Given the description of an element on the screen output the (x, y) to click on. 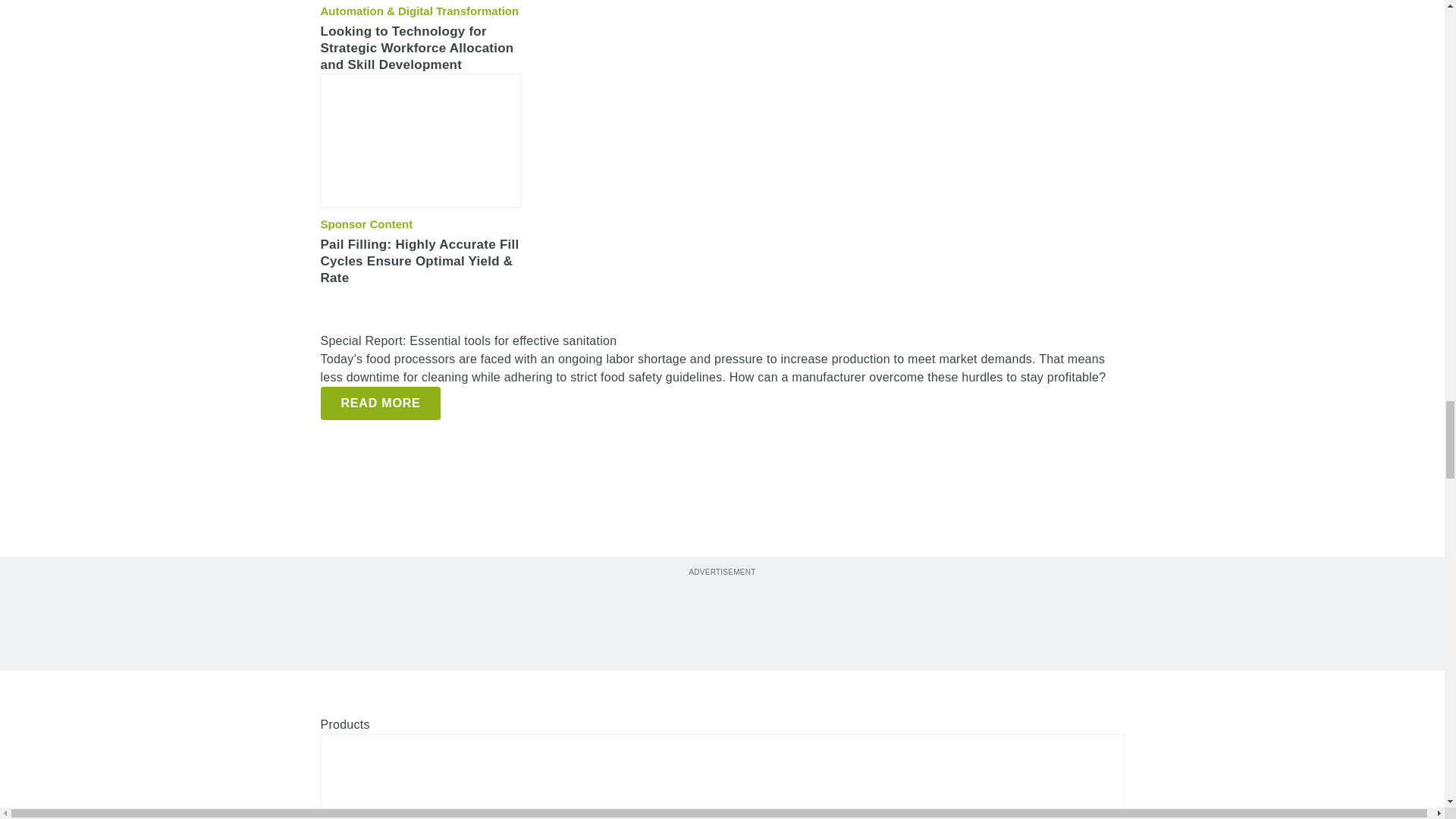
Read More (380, 403)
Sponsor Content (366, 224)
